Given the description of an element on the screen output the (x, y) to click on. 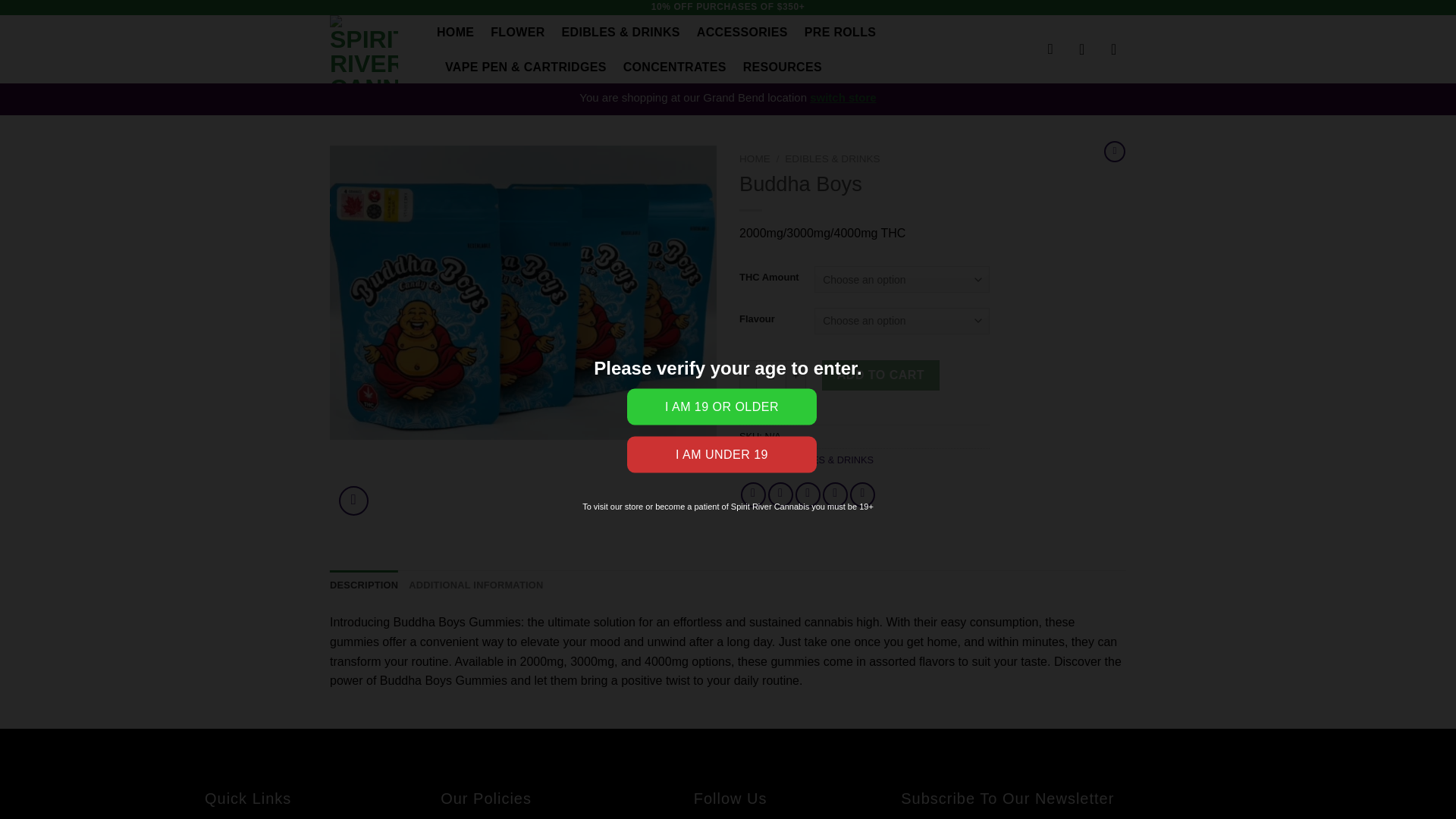
I am 19 or older (721, 407)
1 (770, 375)
switch store (842, 97)
ACCESSORIES (742, 32)
Share on Facebook (753, 494)
ADD TO CART (881, 375)
Email to a Friend (807, 494)
HOME (455, 32)
Share on LinkedIn (862, 494)
HOME (754, 158)
